Given the description of an element on the screen output the (x, y) to click on. 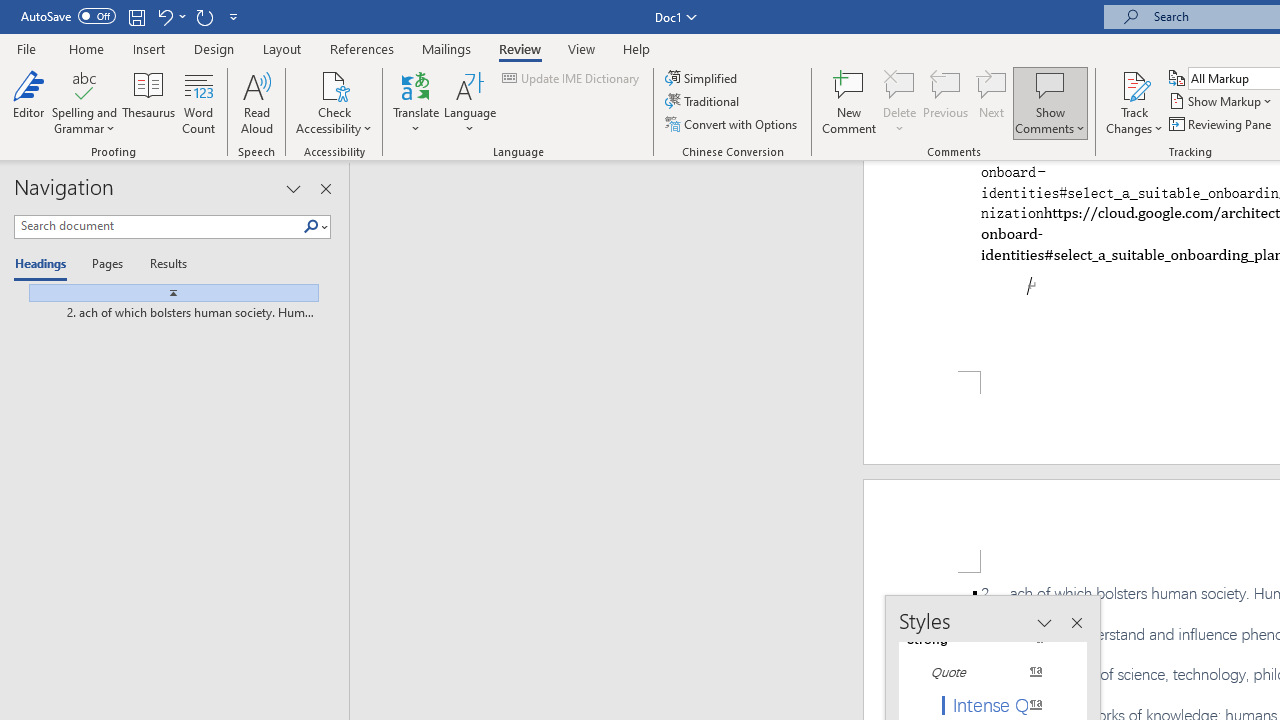
Show Comments (1050, 102)
Spelling and Grammar (84, 102)
Read Aloud (256, 102)
Next (991, 102)
Check Accessibility (334, 102)
Quote (984, 672)
Simplified (702, 78)
Results (161, 264)
